Given the description of an element on the screen output the (x, y) to click on. 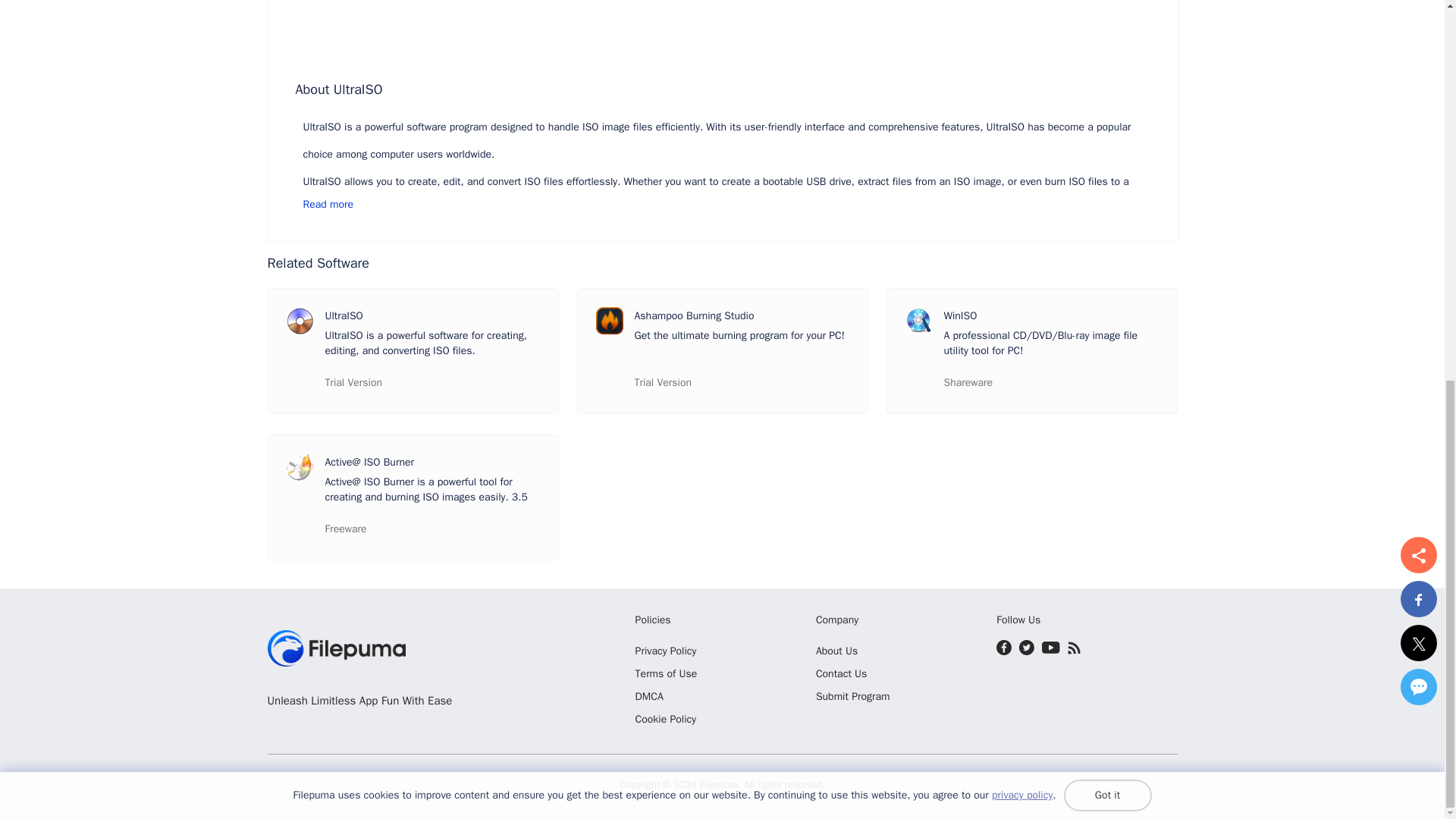
Read more (726, 204)
Advertisement (723, 28)
